Given the description of an element on the screen output the (x, y) to click on. 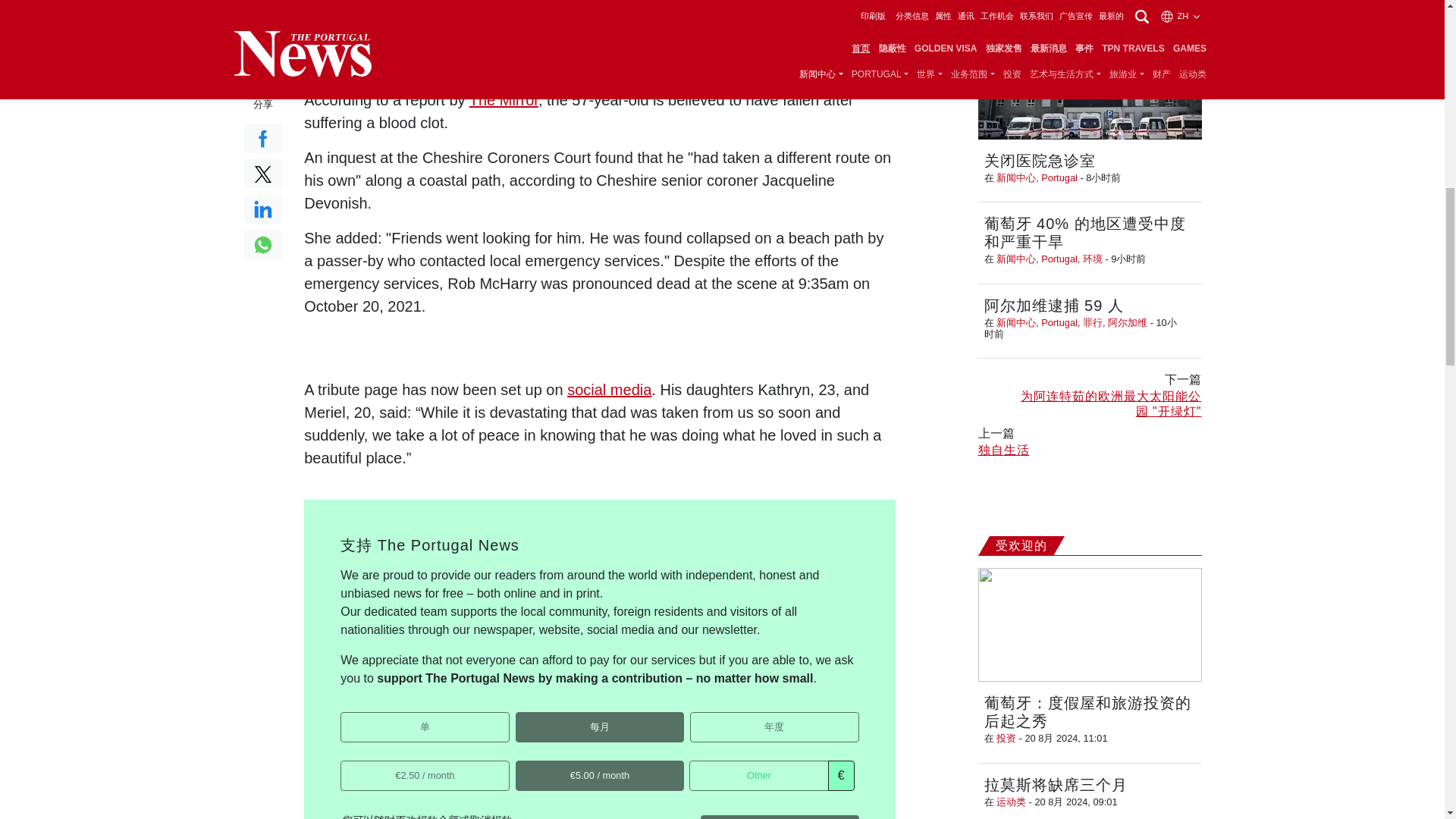
5 (520, 765)
single (345, 716)
2.5 (345, 765)
P-18662245734186221MGVD6SI (695, 716)
P-6T2758016F920900CMGGQYMQ (520, 716)
